Given the description of an element on the screen output the (x, y) to click on. 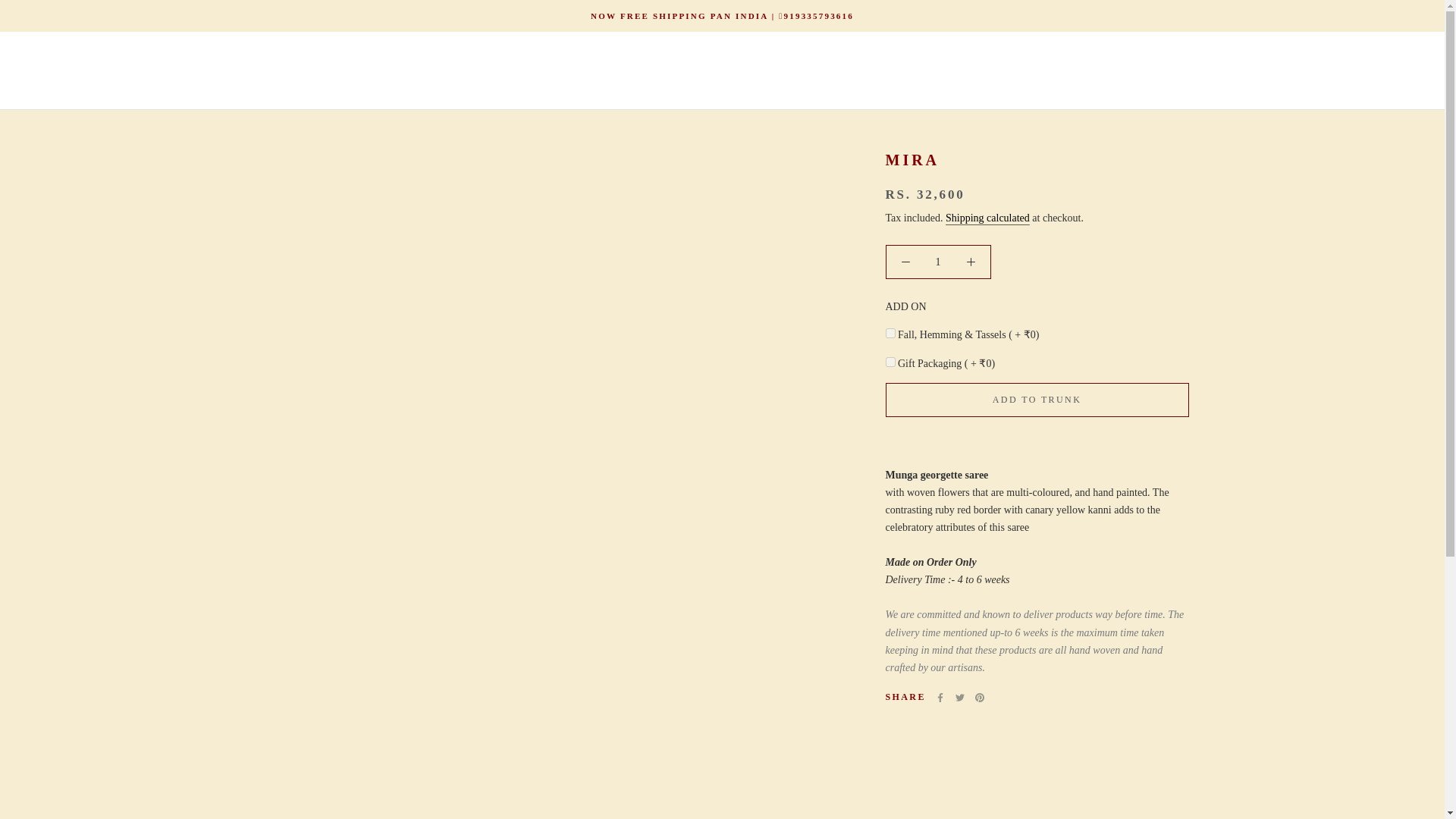
Yes (890, 333)
Yes (890, 361)
1 (938, 262)
